Given the description of an element on the screen output the (x, y) to click on. 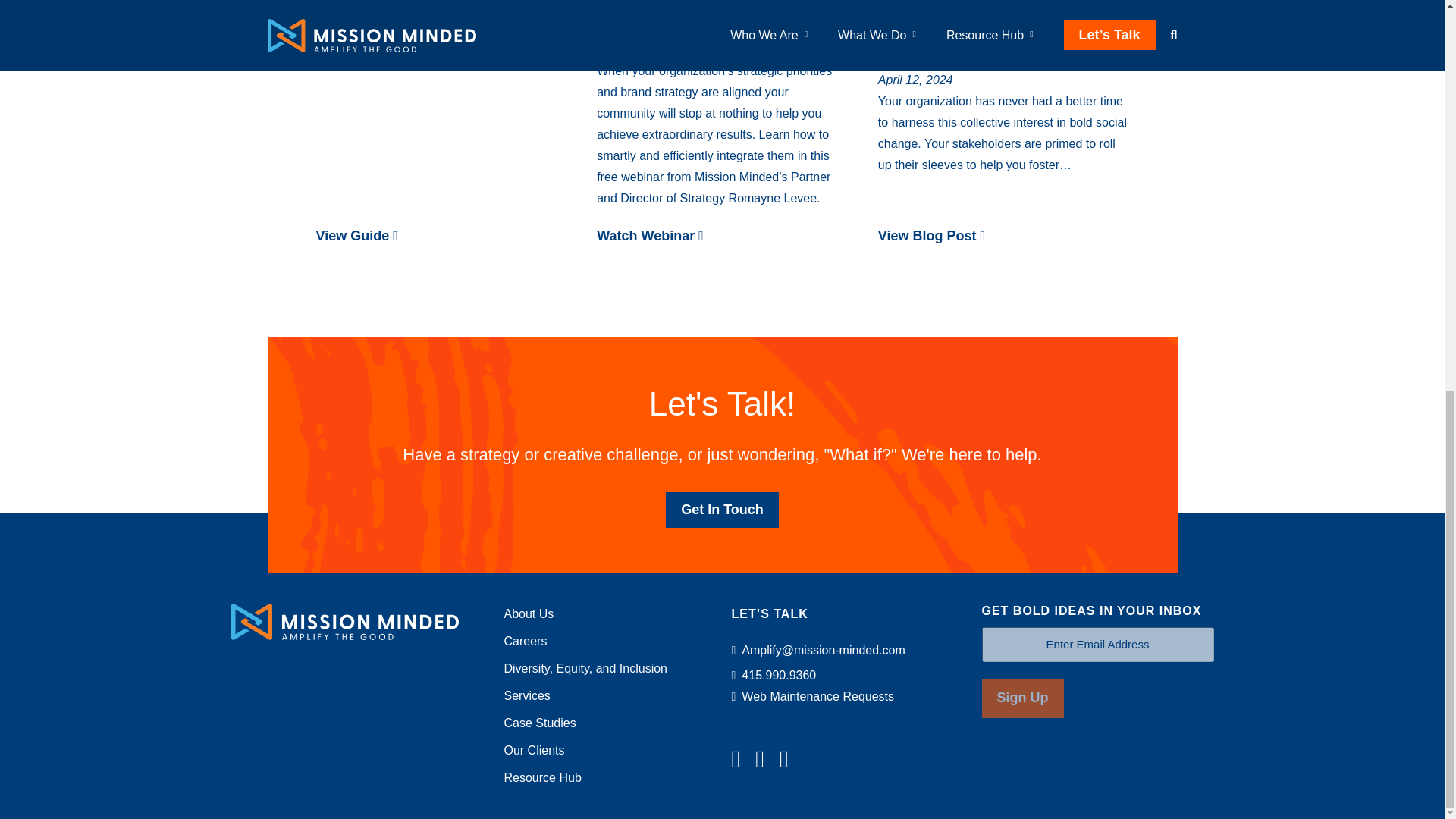
View Guide (440, 236)
Sign Up (1021, 698)
View Blog Post (1003, 236)
Get In Touch (721, 509)
Watch Webinar (721, 236)
About Us (528, 613)
